Given the description of an element on the screen output the (x, y) to click on. 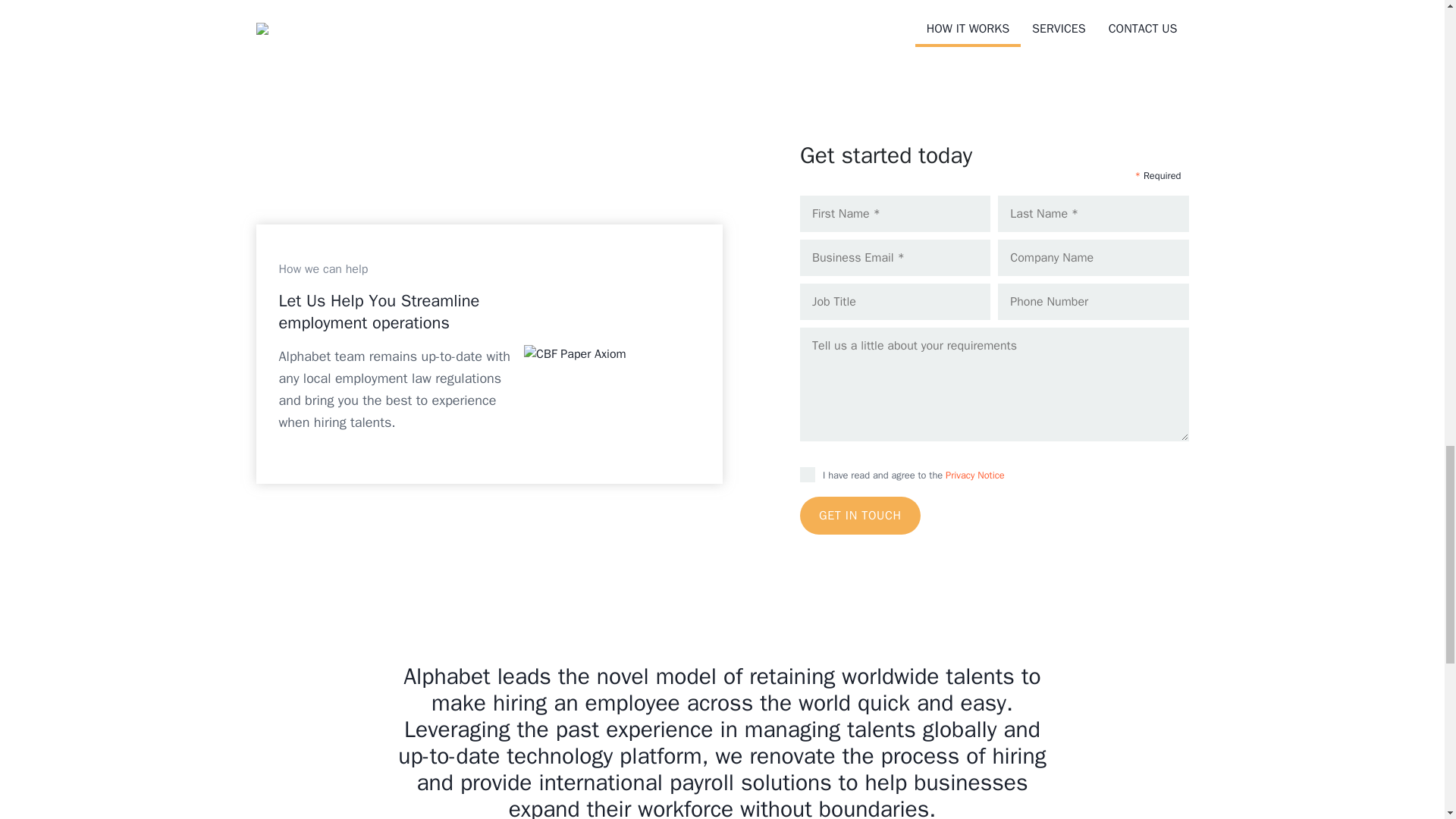
GET IN TOUCH (859, 515)
Privacy Notice (974, 475)
